Given the description of an element on the screen output the (x, y) to click on. 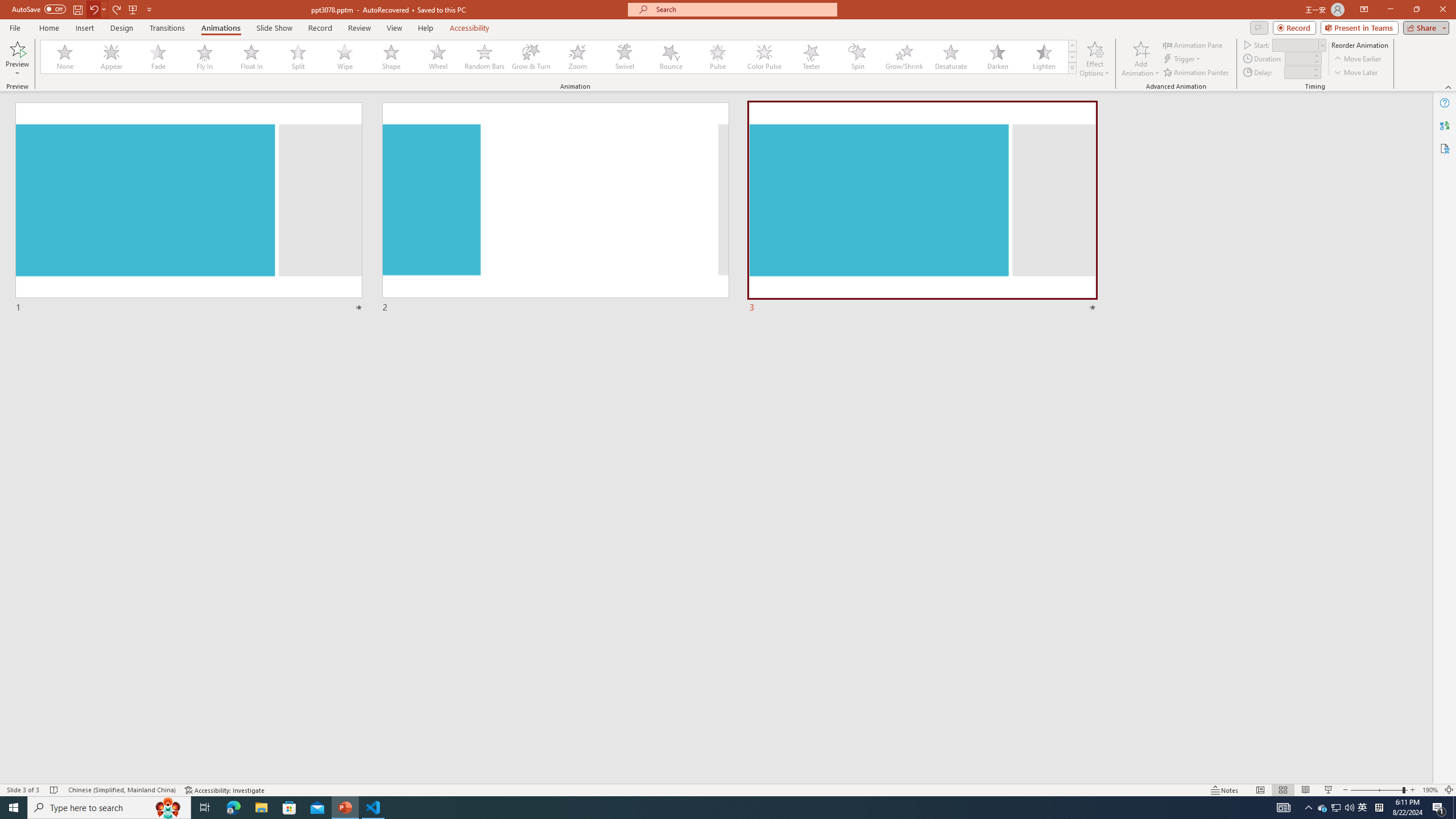
Animation Styles (1071, 67)
Bounce (670, 56)
Move Later (1355, 72)
Appear (111, 56)
